Given the description of an element on the screen output the (x, y) to click on. 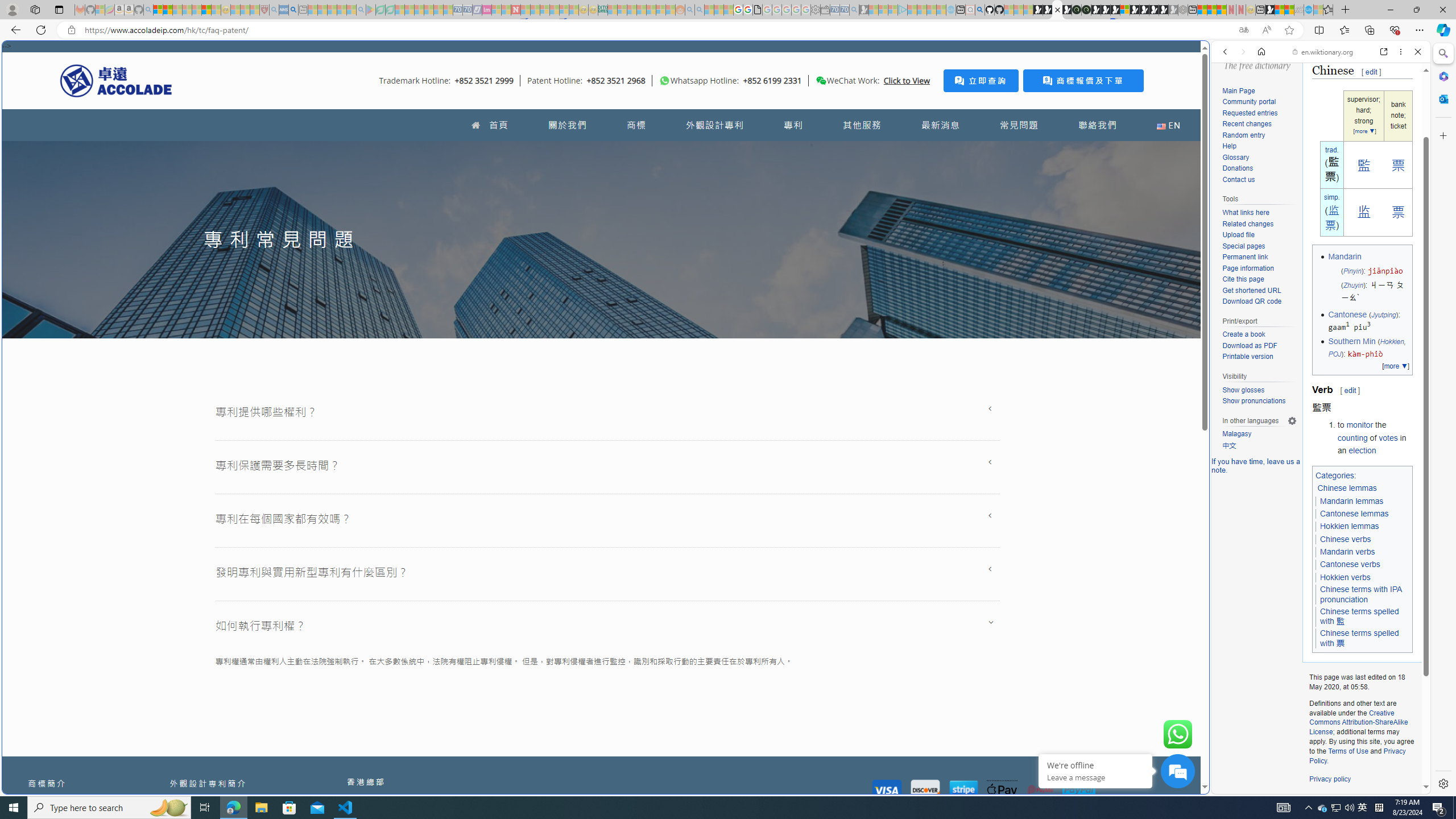
Donations (1237, 168)
Kinda Frugal - MSN - Sleeping (651, 9)
Forward (1242, 51)
Future Focus Report 2024 (1085, 9)
Show pronunciations (1253, 401)
Bing Real Estate - Home sales and rental listings - Sleeping (853, 9)
Mandarin lemmas (1351, 500)
